Given the description of an element on the screen output the (x, y) to click on. 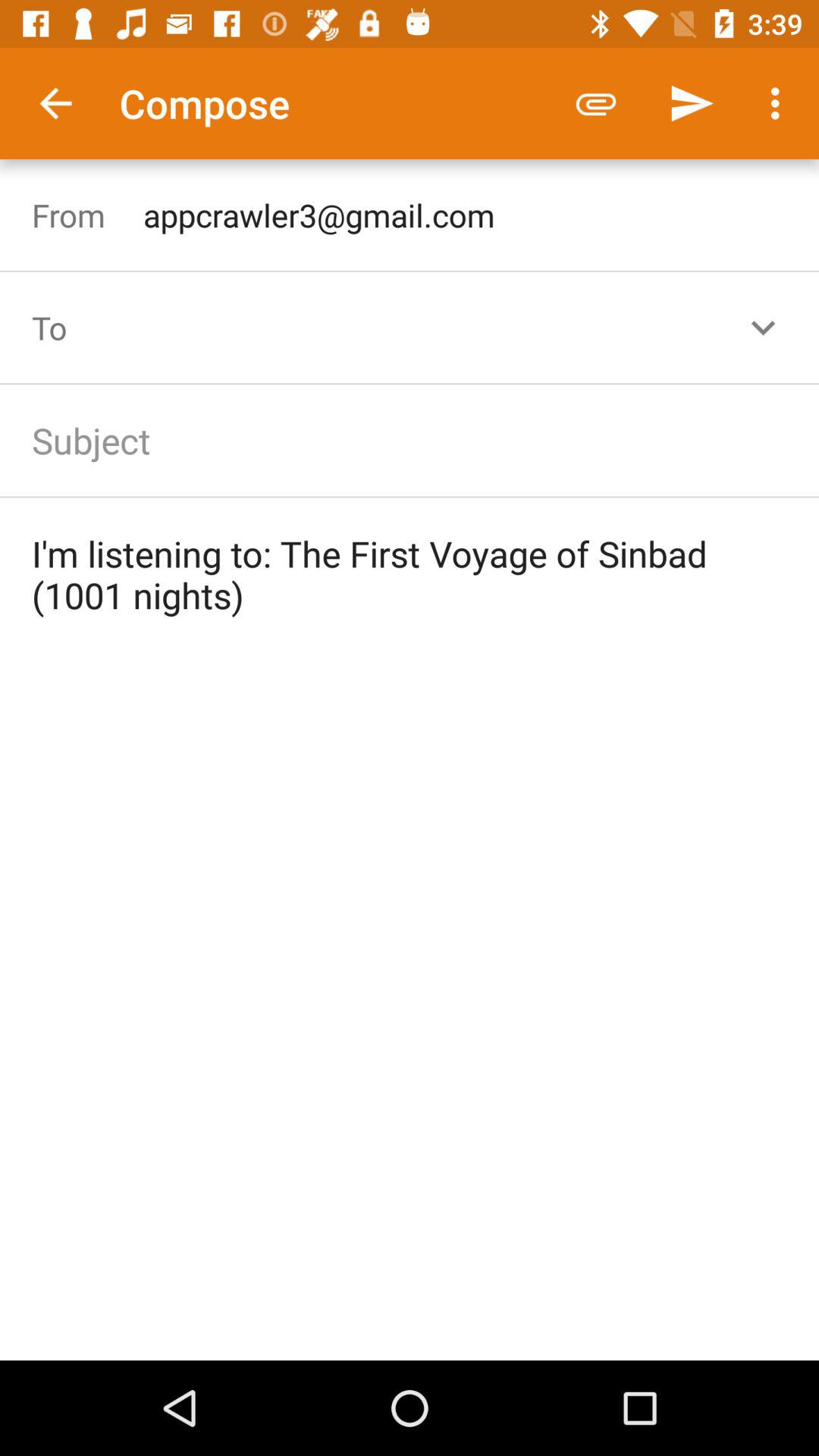
turn off the icon to the right of the compose (595, 103)
